Given the description of an element on the screen output the (x, y) to click on. 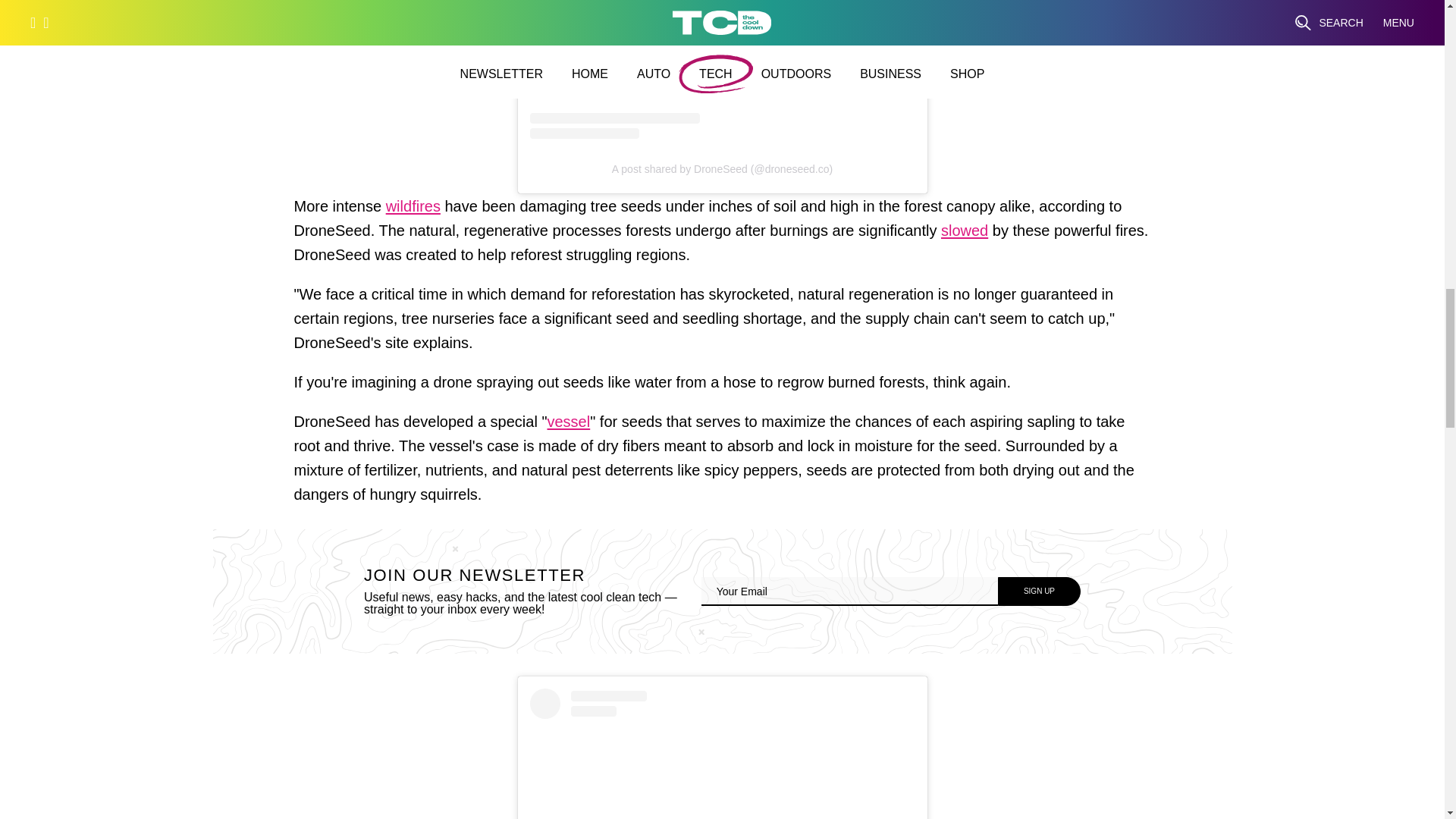
View this post on Instagram (721, 69)
Wildfires (413, 209)
wildfires (413, 209)
Sign Up (1038, 591)
